Given the description of an element on the screen output the (x, y) to click on. 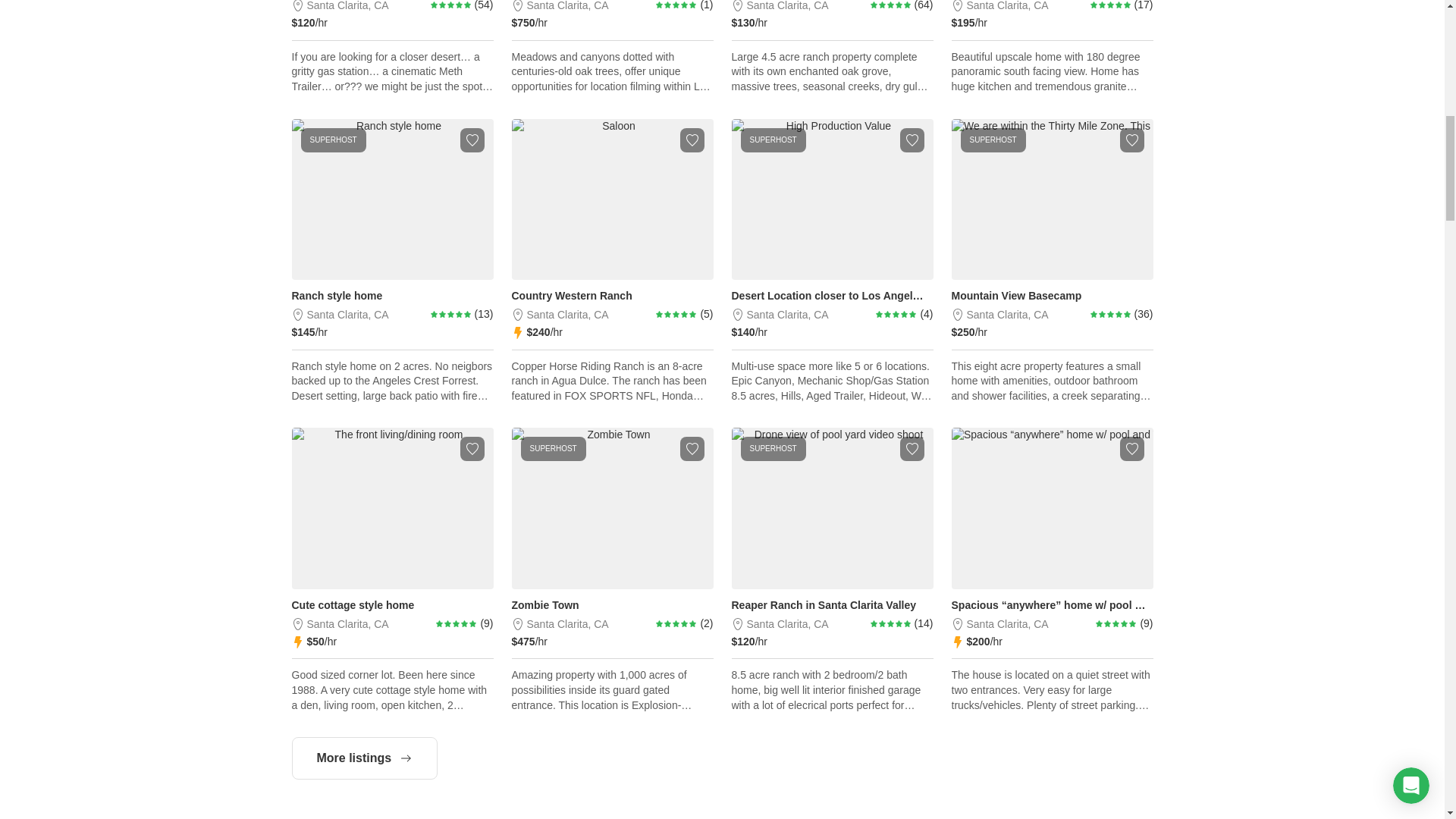
5 (450, 314)
5 (896, 314)
A new scene every where you turn (392, 47)
5 (450, 4)
5 (1110, 4)
Ranch No.440 (612, 47)
Enchanted Mini Forest with Ranch House and Barns (831, 47)
5 (890, 4)
5 (676, 314)
Fabulous Mediterranean Home with a View  (1051, 47)
